Given the description of an element on the screen output the (x, y) to click on. 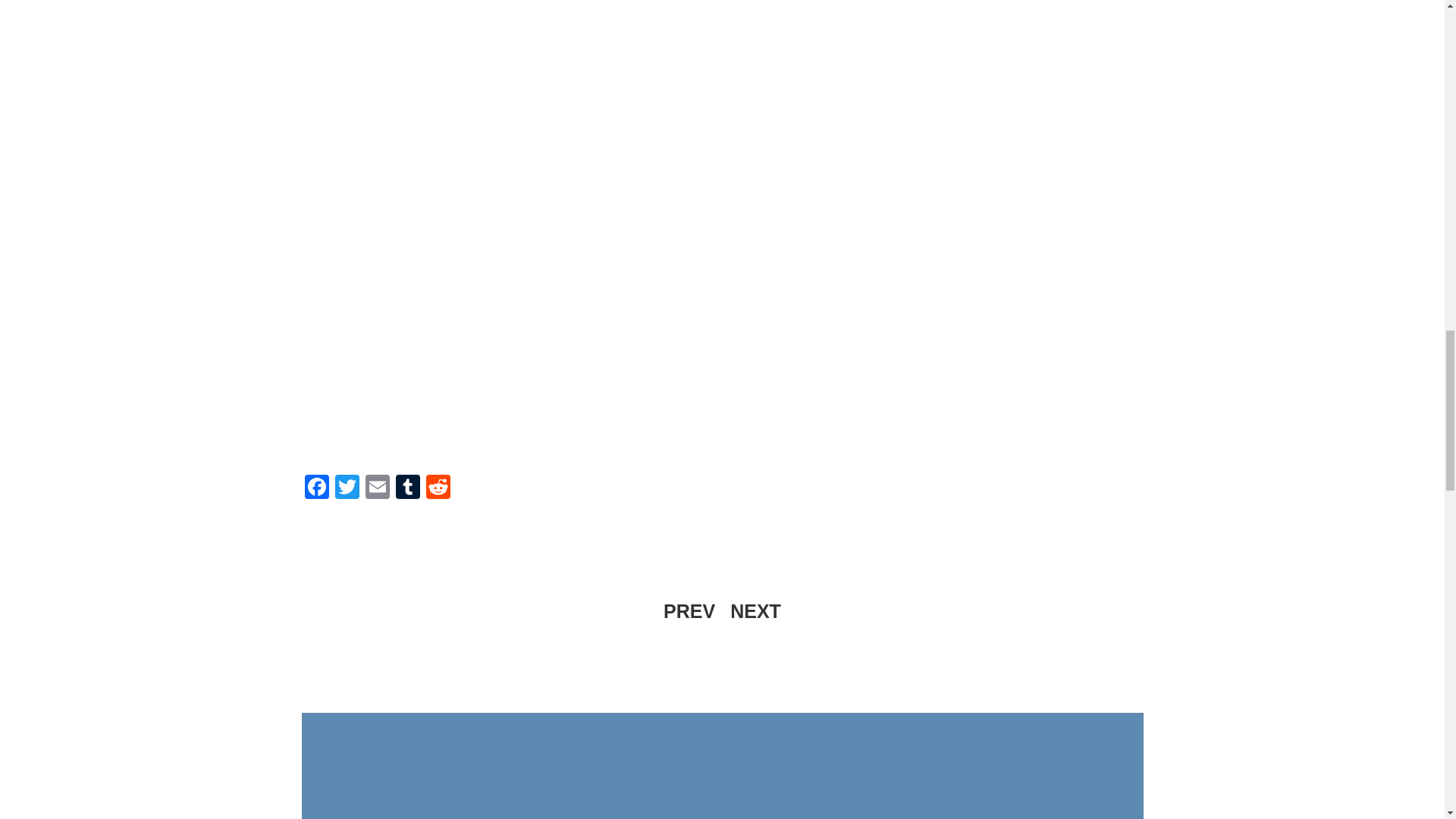
Reddit (437, 488)
Email (377, 488)
Facebook (316, 488)
NEXT (755, 610)
Tumblr (408, 488)
Email (377, 488)
Twitter (346, 488)
Reddit (437, 488)
Twitter (346, 488)
Facebook (316, 488)
Tumblr (408, 488)
PREV (689, 610)
